Given the description of an element on the screen output the (x, y) to click on. 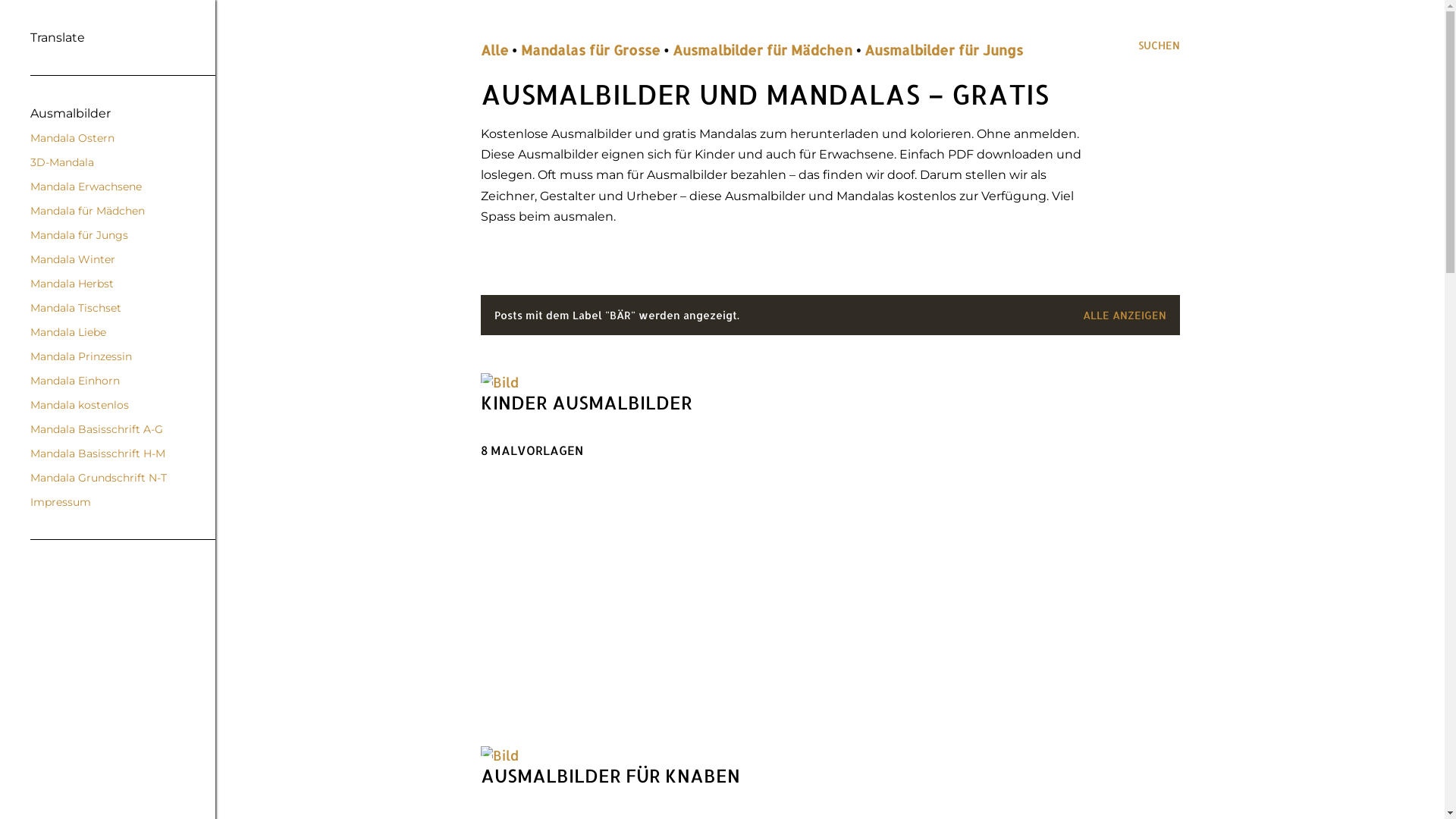
Mandala Herbst Element type: text (71, 283)
Alle Element type: text (494, 49)
Mandala Einhorn Element type: text (74, 380)
Mandala Erwachsene Element type: text (85, 186)
3D-Mandala Element type: text (62, 162)
SUCHEN Element type: text (1158, 45)
Mandala Ostern Element type: text (72, 137)
Mandala kostenlos Element type: text (79, 404)
Mandala Winter Element type: text (72, 259)
Mandala Prinzessin Element type: text (80, 356)
Mandala Tischset Element type: text (75, 307)
KINDER AUSMALBILDER
8 MALVORLAGEN Element type: text (651, 424)
ALLE ANZEIGEN Element type: text (1124, 314)
Mandala Liebe Element type: text (68, 331)
Mandala Grundschrift N-T Element type: text (98, 477)
Impressum Element type: text (60, 501)
Mandala Basisschrift A-G Element type: text (96, 429)
Mandala Basisschrift H-M Element type: text (97, 453)
